Given the description of an element on the screen output the (x, y) to click on. 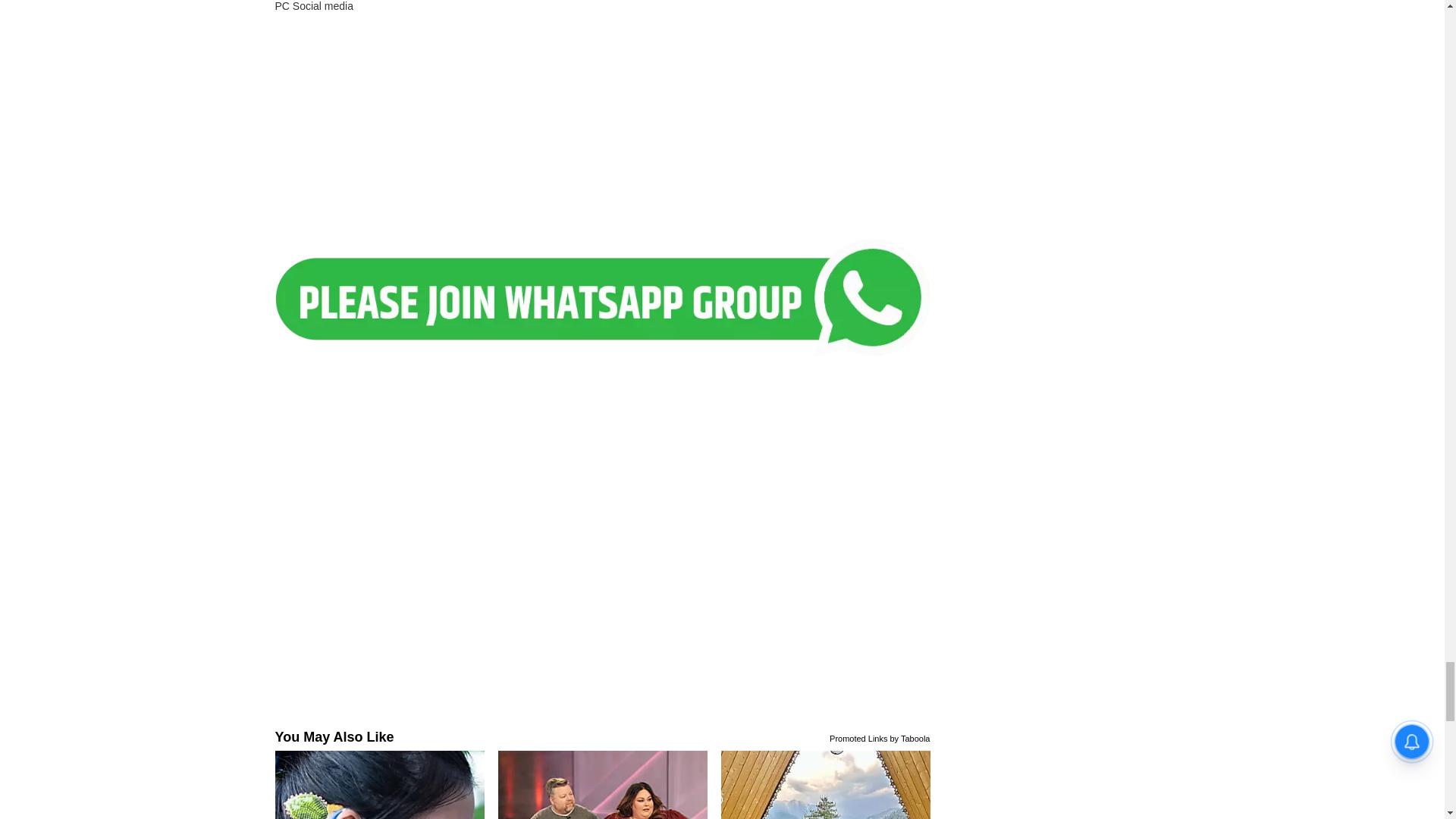
by Taboola (909, 736)
Promoted Links (857, 736)
